Given the description of an element on the screen output the (x, y) to click on. 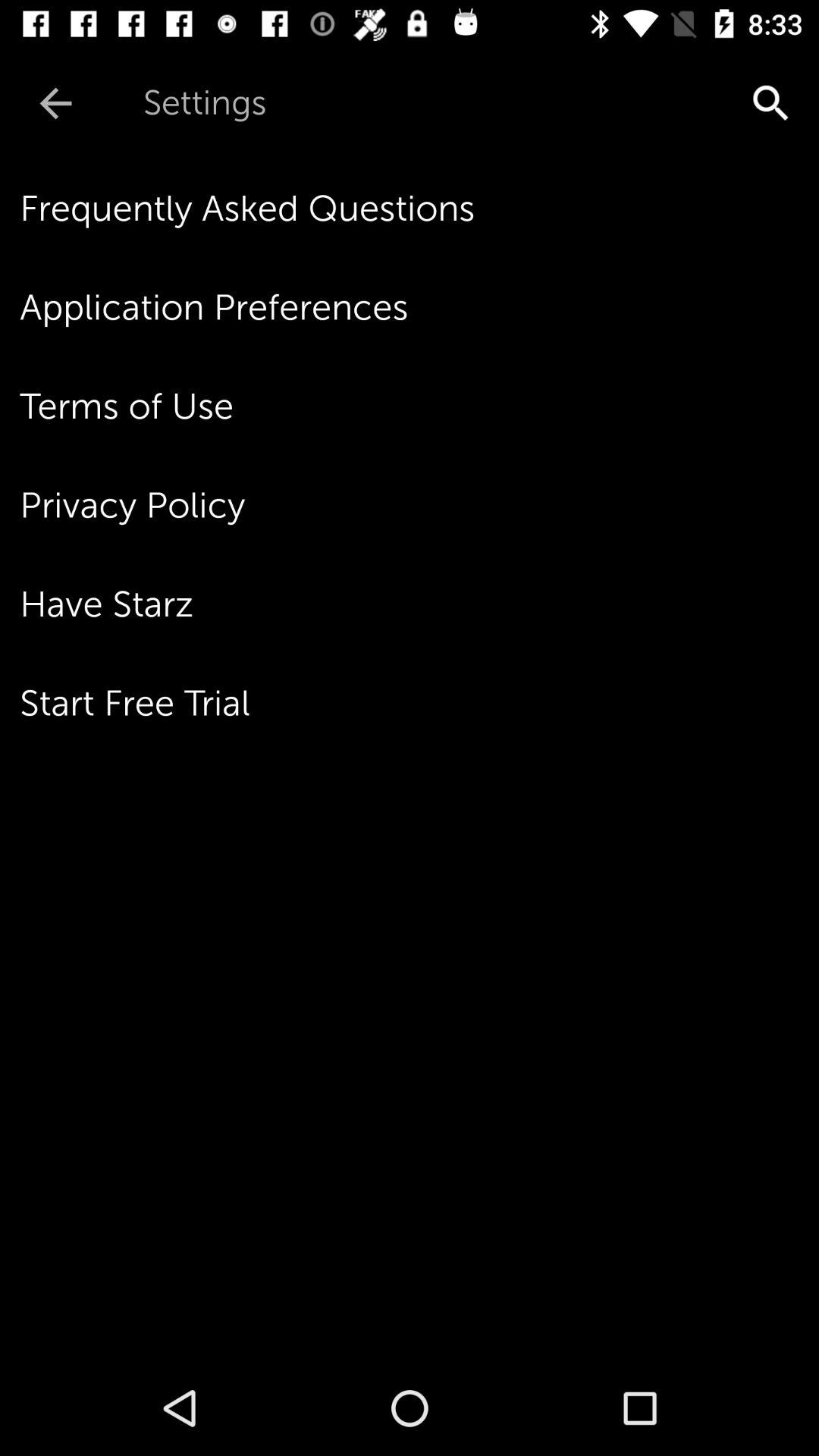
swipe until the privacy policy icon (419, 505)
